Given the description of an element on the screen output the (x, y) to click on. 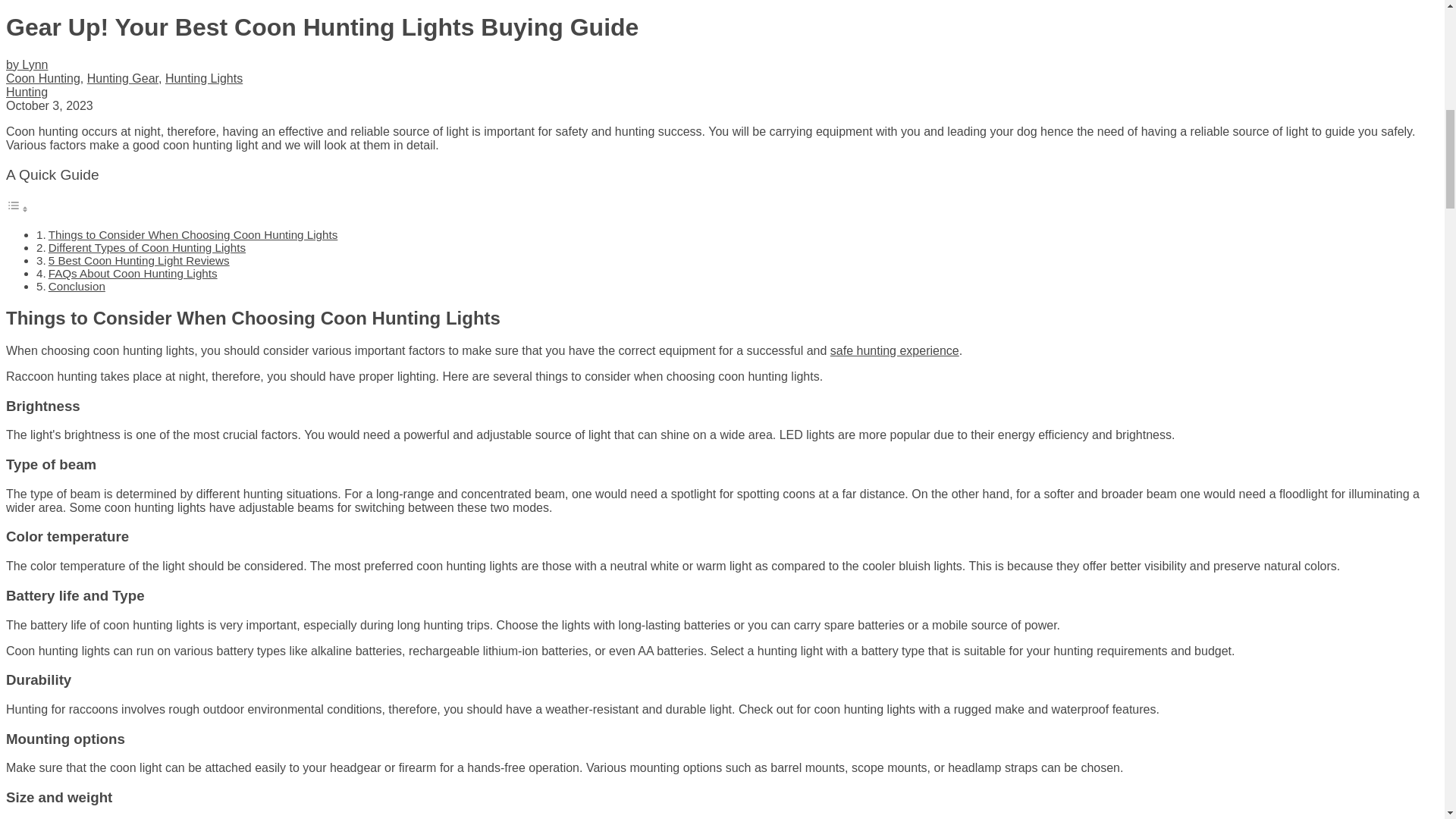
Things to Consider When Choosing Coon Hunting Lights (192, 234)
View all posts by Lynn (26, 64)
FAQs About Coon Hunting Lights (132, 273)
Conclusion (76, 286)
5 Best Coon Hunting Light Reviews (139, 259)
Different Types of Coon Hunting Lights (147, 246)
